Given the description of an element on the screen output the (x, y) to click on. 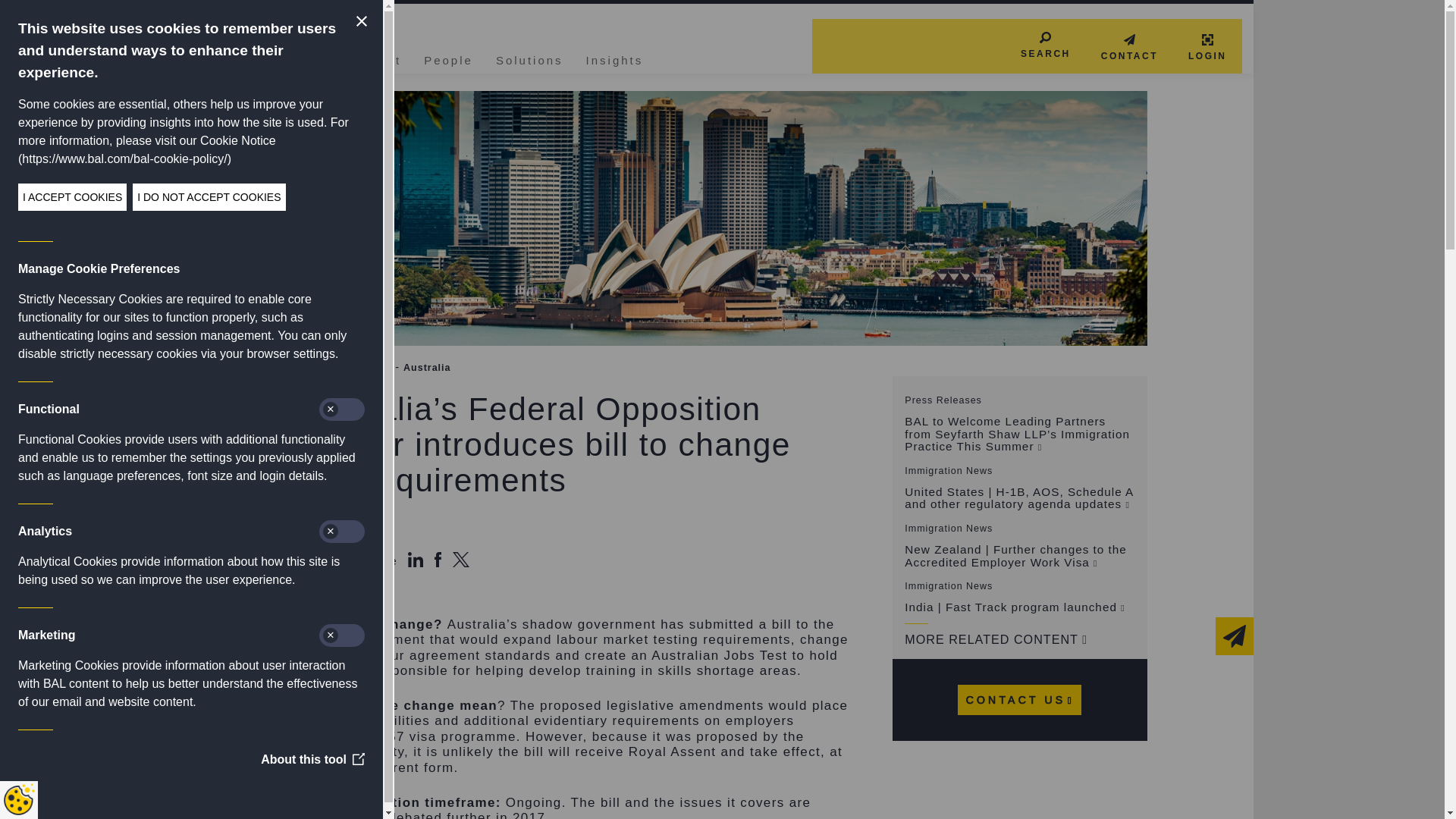
About (380, 58)
Solutions (529, 58)
Insights (614, 58)
People (448, 58)
I DO NOT ACCEPT COOKIES (58, 196)
